Given the description of an element on the screen output the (x, y) to click on. 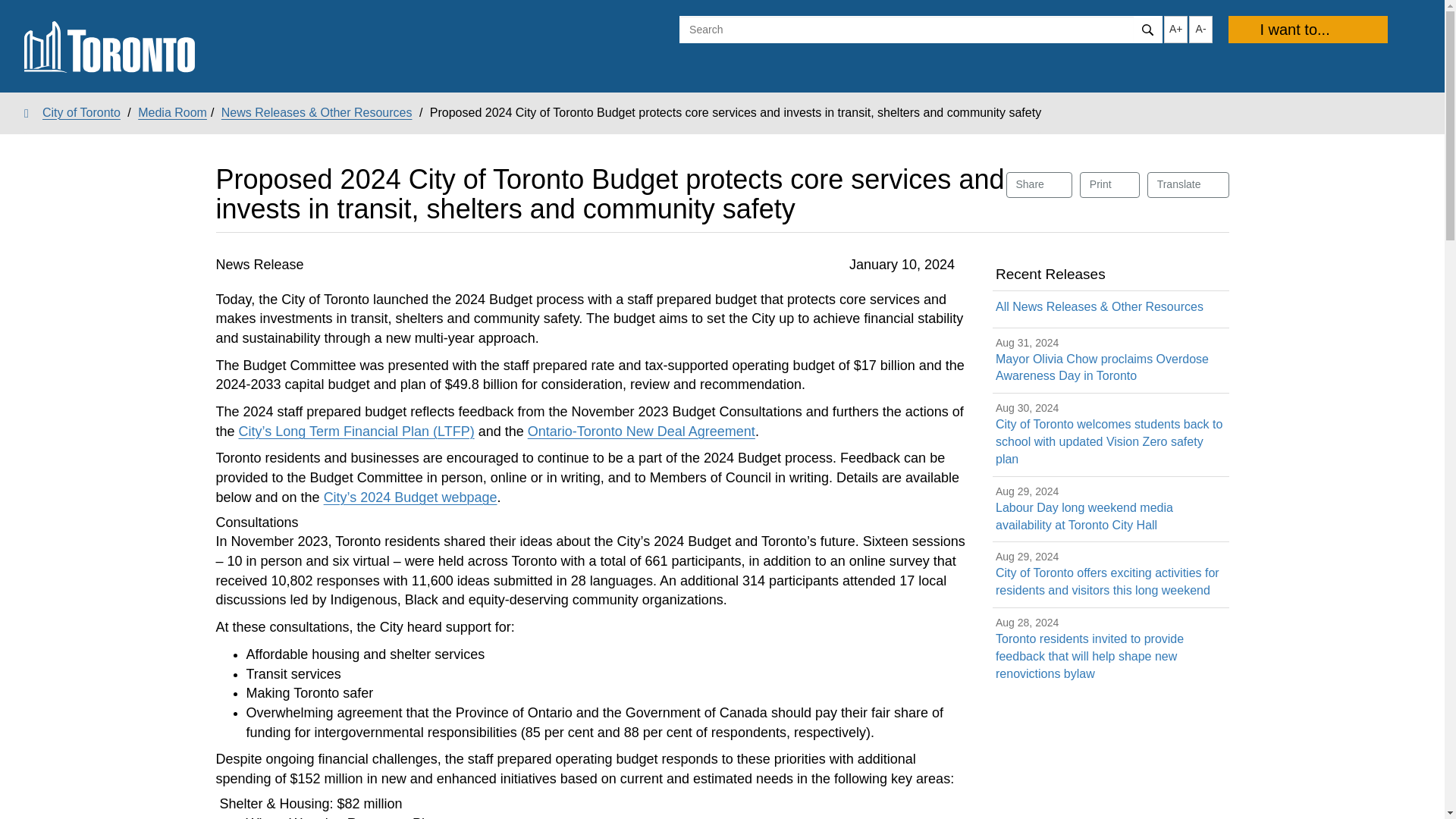
Print (1110, 184)
I want to... (1307, 29)
Increase text size (1175, 29)
Media Room (172, 112)
Ontario-Toronto New Deal Agreement (641, 431)
City of Toronto (72, 112)
Skip to content (11, 11)
